Given the description of an element on the screen output the (x, y) to click on. 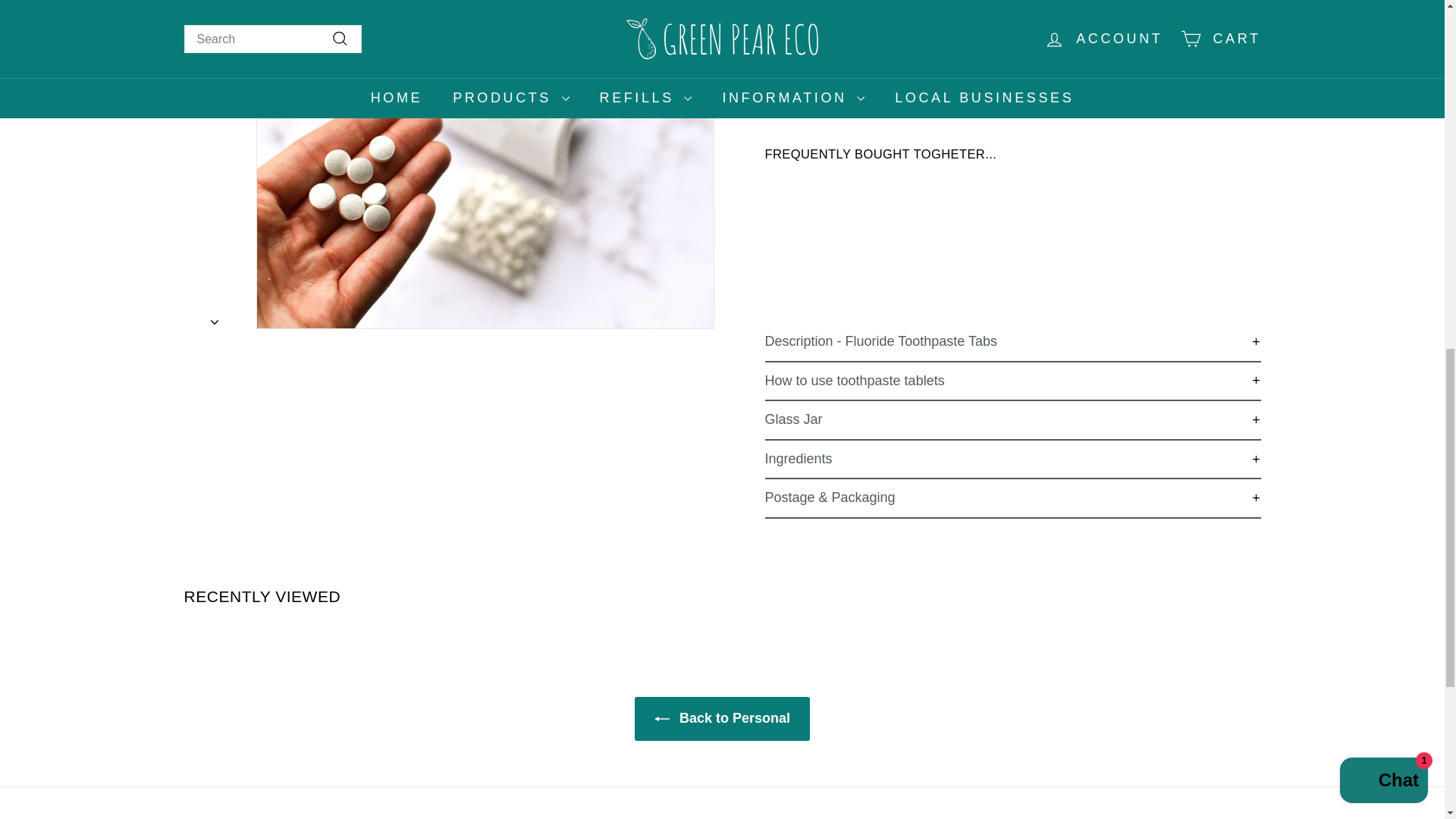
icon-left-arrow (661, 718)
